Given the description of an element on the screen output the (x, y) to click on. 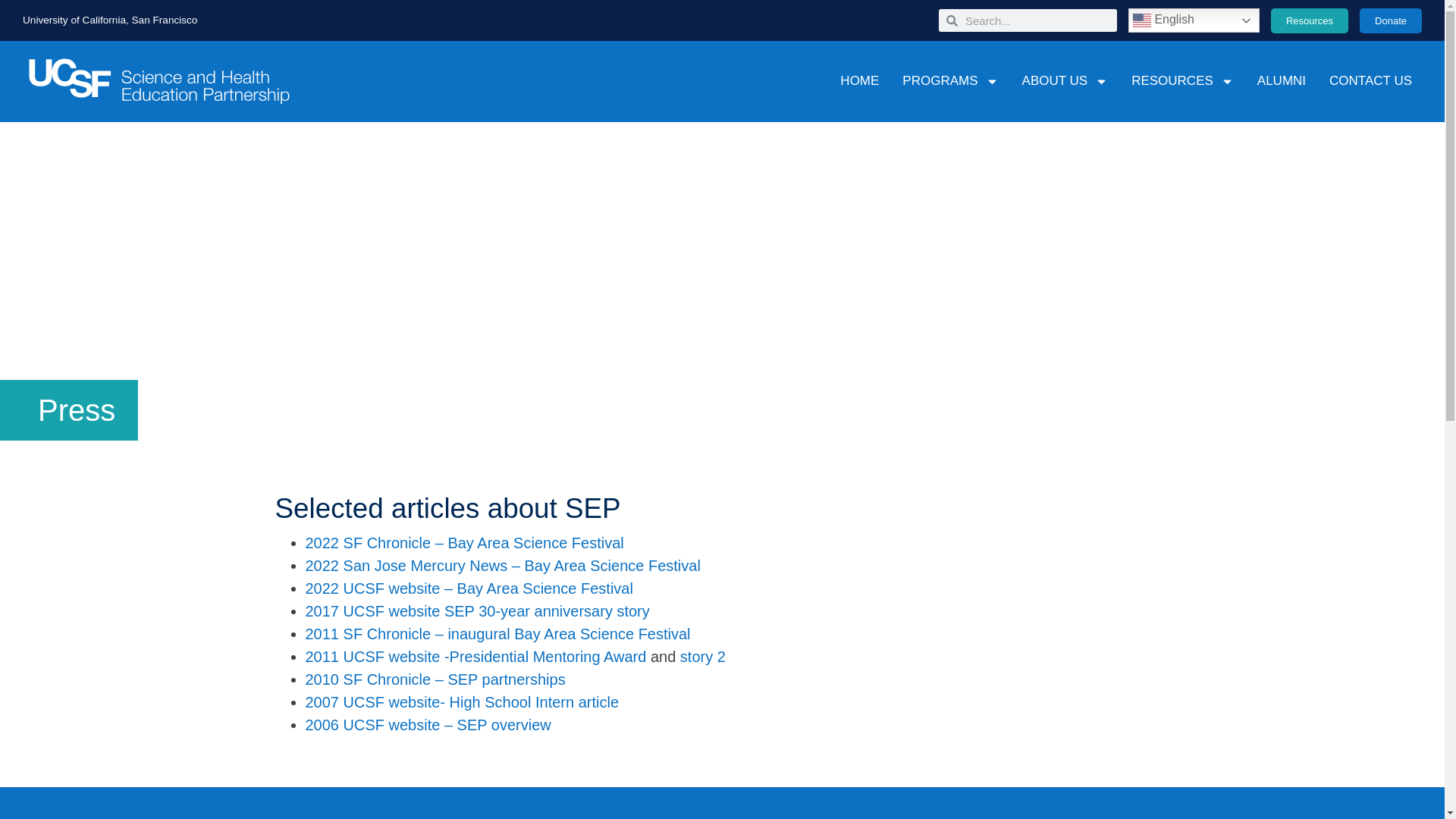
HOME (859, 80)
ABOUT US (1065, 80)
PROGRAMS (950, 80)
English (1193, 20)
Donate (1390, 20)
ALUMNI (1280, 80)
Resources (1309, 20)
University of California, San Francisco (109, 19)
CONTACT US (1370, 80)
RESOURCES (1182, 80)
